Given the description of an element on the screen output the (x, y) to click on. 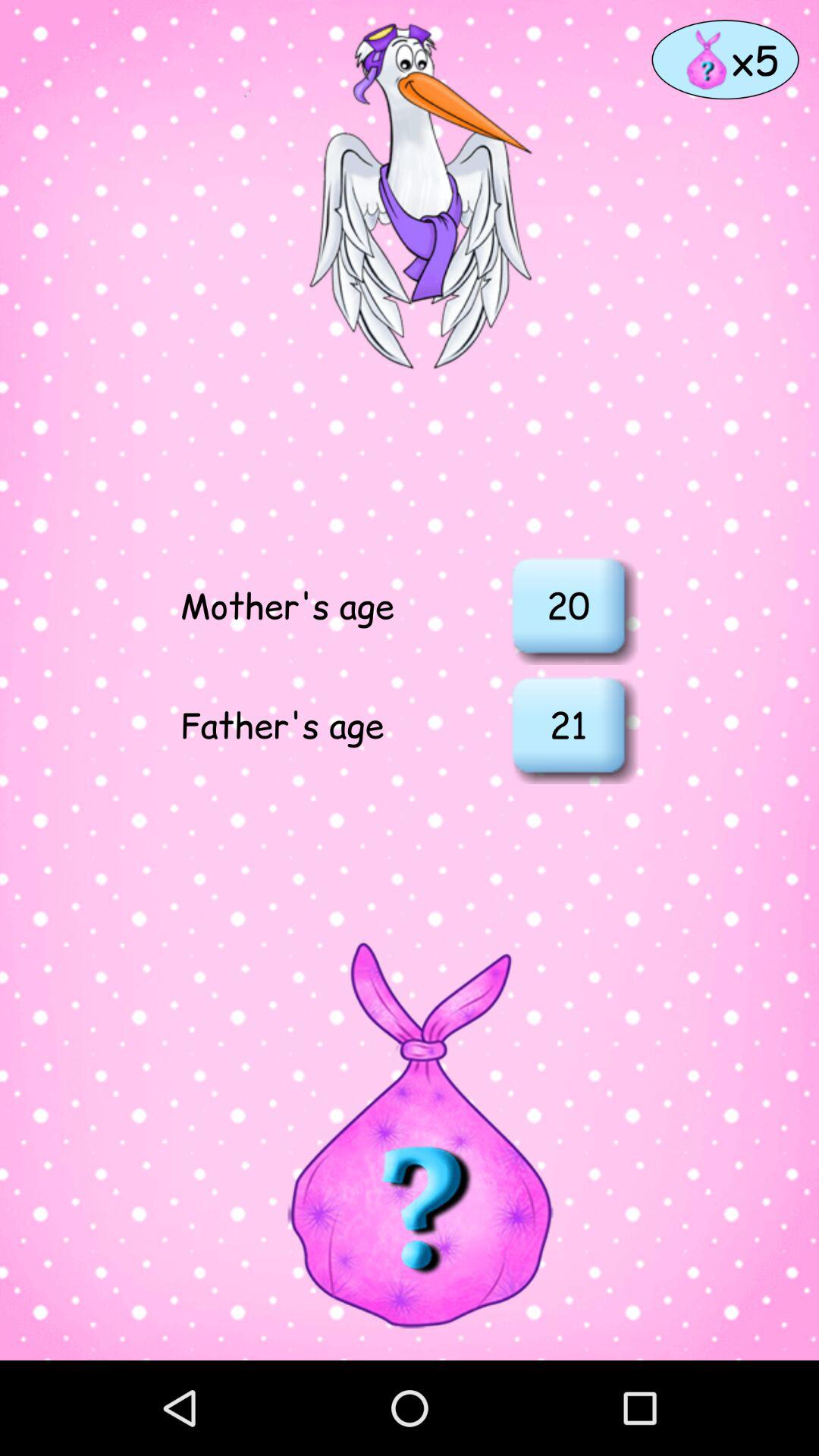
flip to the 21 (568, 724)
